Given the description of an element on the screen output the (x, y) to click on. 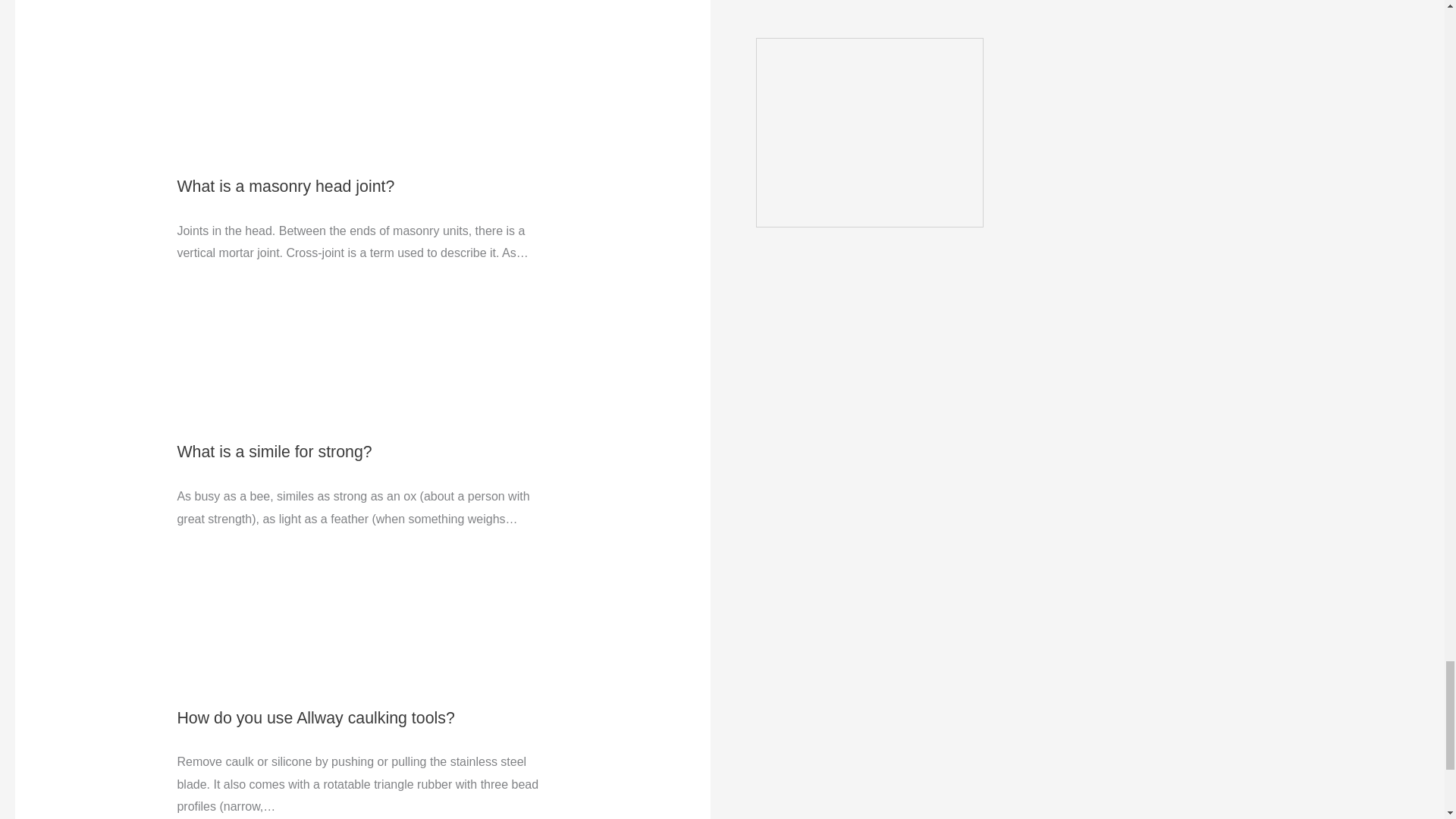
How do you use Allway caulking tools? (315, 718)
What is a simile for strong? (273, 452)
What is a masonry head joint? (285, 186)
